Given the description of an element on the screen output the (x, y) to click on. 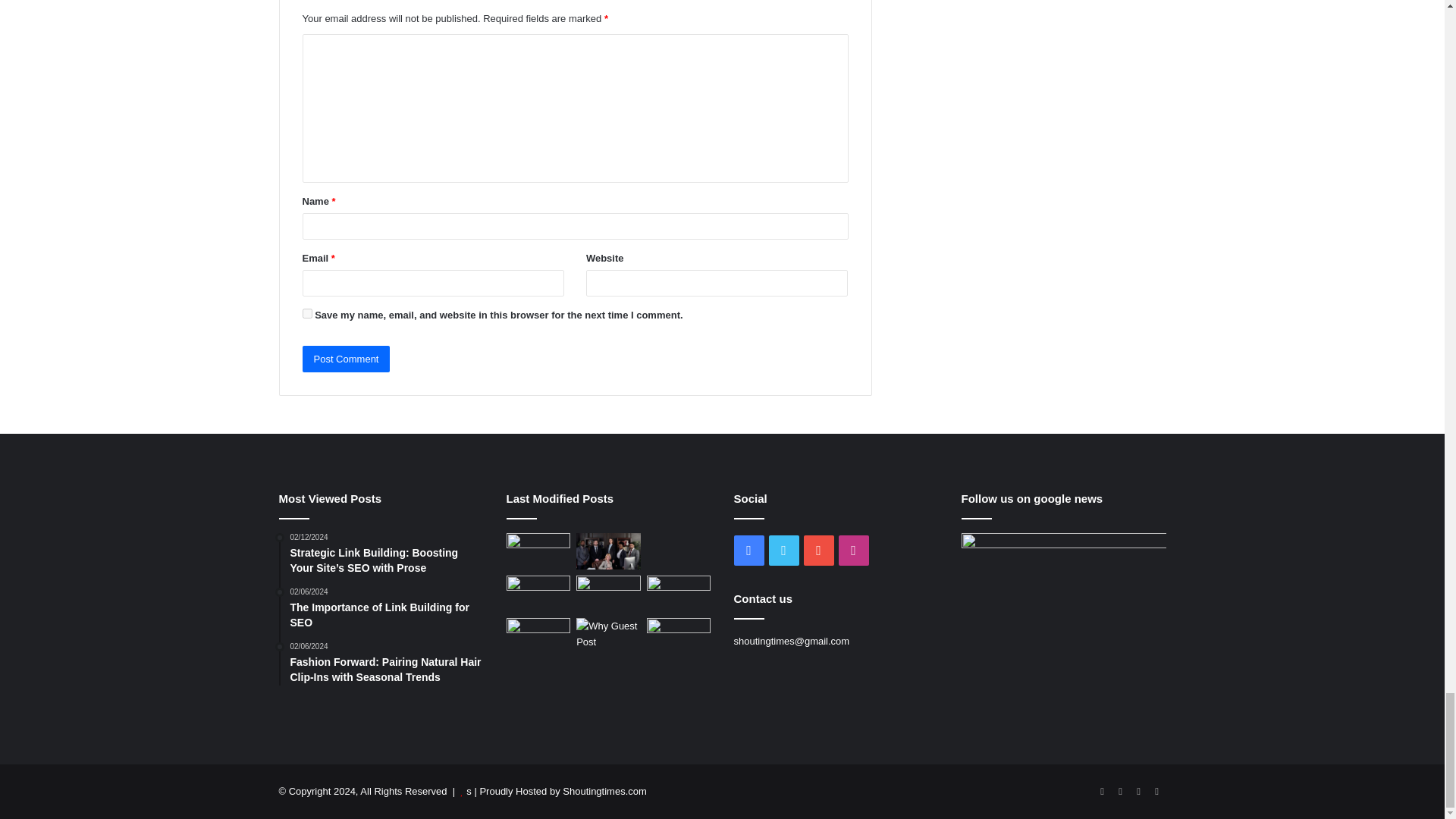
Post Comment (345, 358)
yes (306, 313)
